Given the description of an element on the screen output the (x, y) to click on. 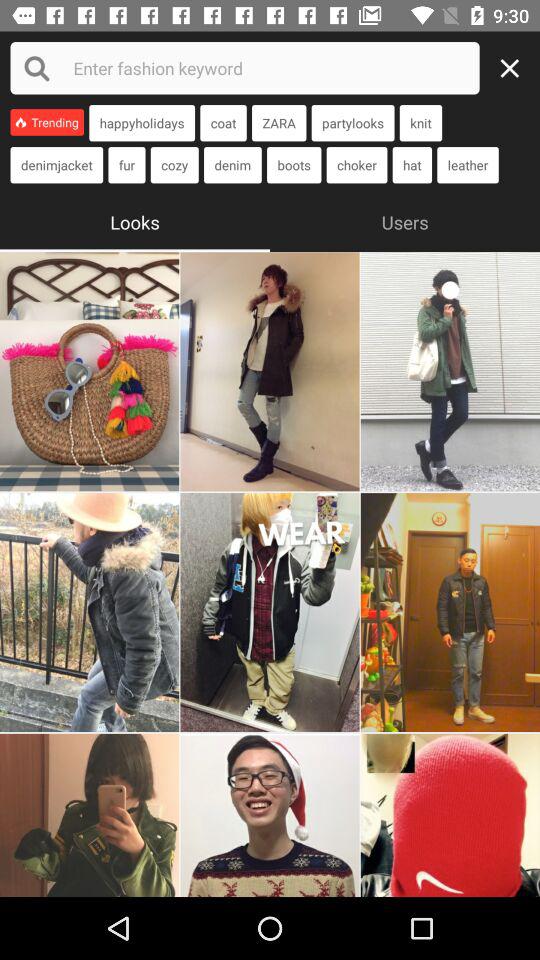
open picture (269, 815)
